Given the description of an element on the screen output the (x, y) to click on. 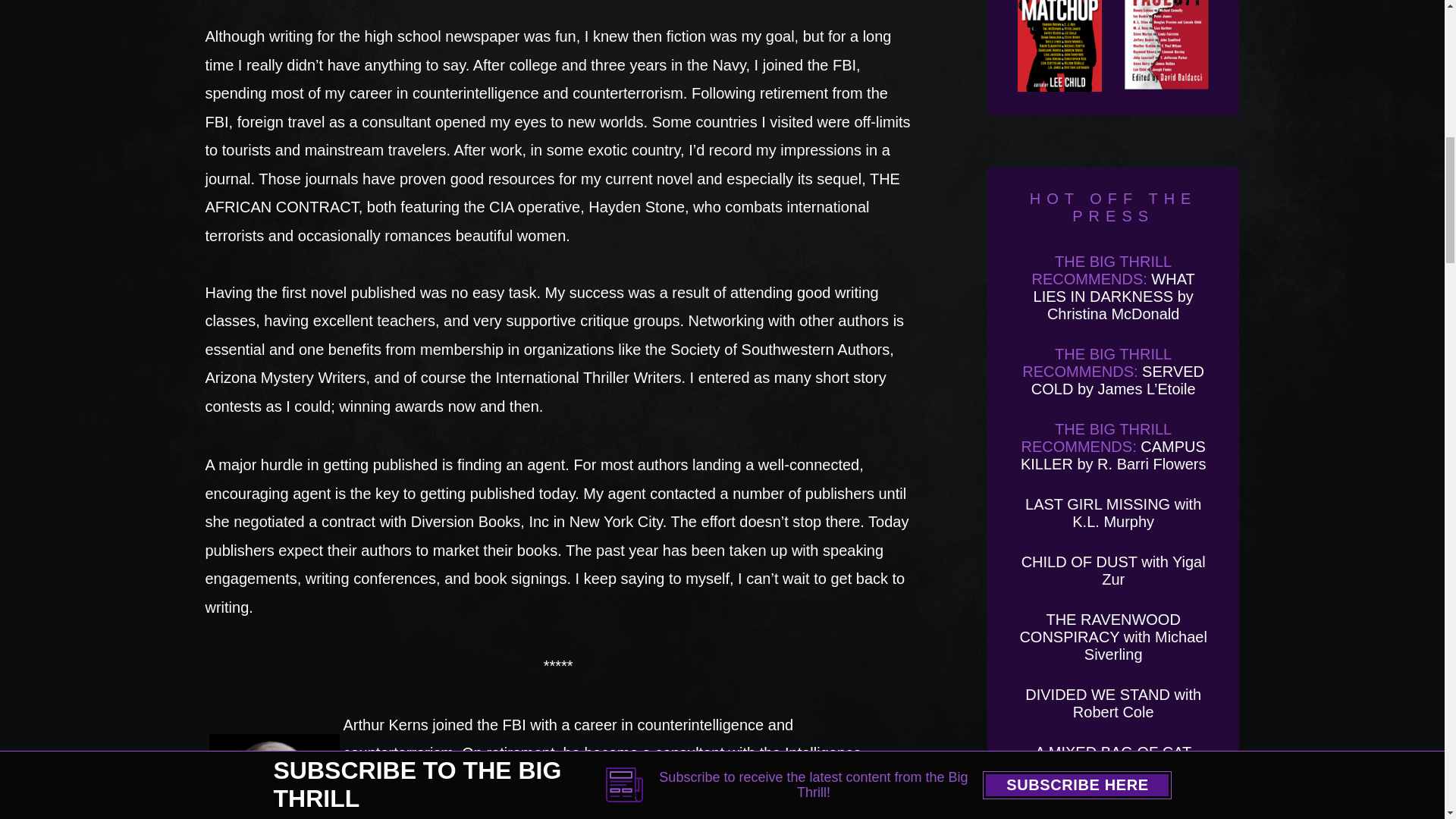
The Big Thrill Recommends: CAMPUS KILLER by R. Barri Flowers (1113, 446)
FACEOFF! In Stores Now! (1166, 45)
LAST GIRL MISSING with K.L. Murphy (1113, 512)
MATCH UP! In Stores Now! (1059, 45)
CHILD OF DUST with Yigal Zur (1113, 570)
A MIXED BAG OF CAT TAILS with Debbie De Louise (1113, 769)
THE RAVENWOOD CONSPIRACY with Michael Siverling (1113, 636)
DIVIDED WE STAND with Robert Cole (1113, 703)
